Given the description of an element on the screen output the (x, y) to click on. 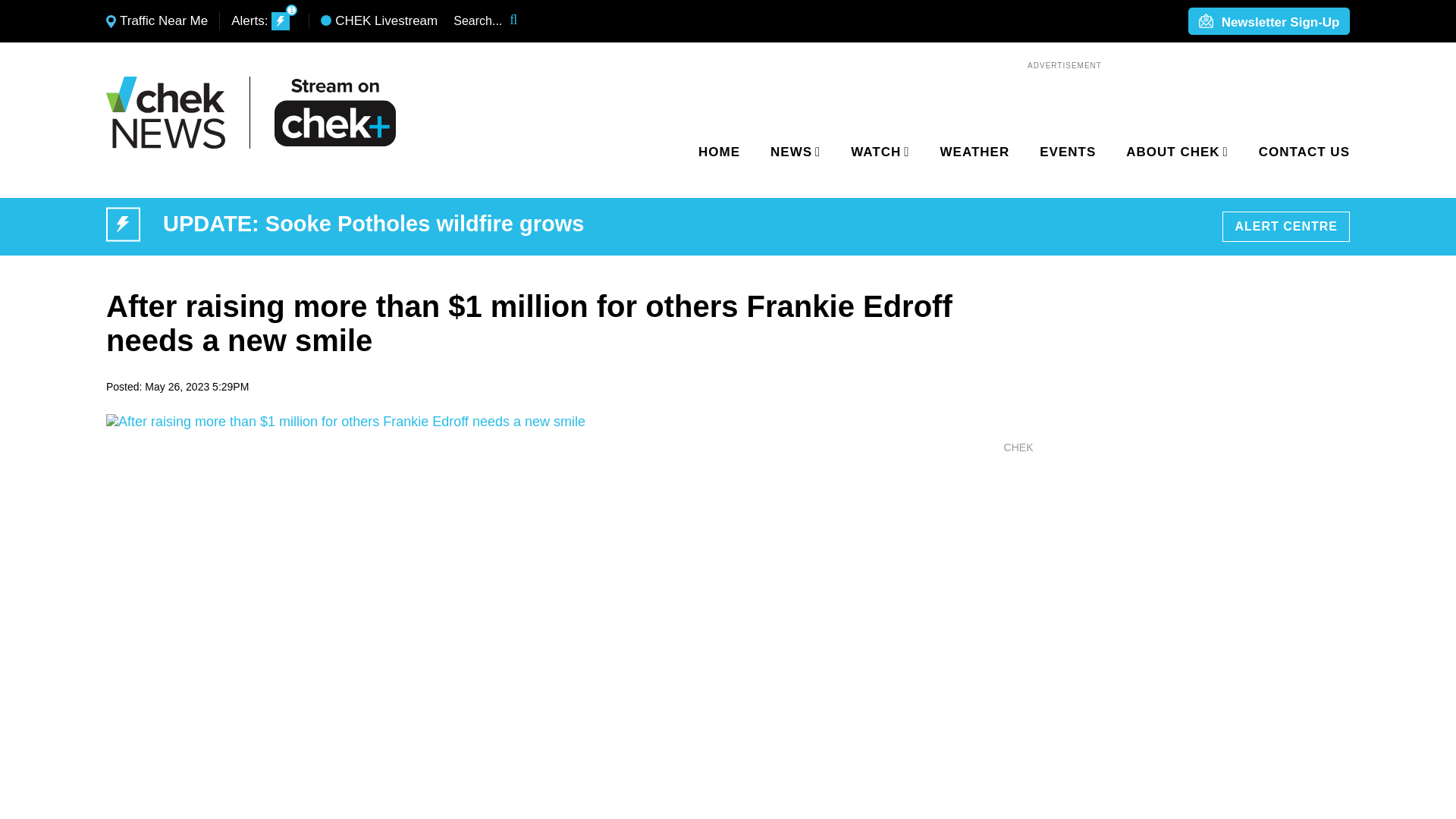
Search (524, 21)
1 (279, 21)
Traffic Near Me (157, 20)
Newsletter Sign-Up (1268, 22)
CHEK Livestream (379, 20)
HOME (718, 152)
NEWS (792, 152)
